Given the description of an element on the screen output the (x, y) to click on. 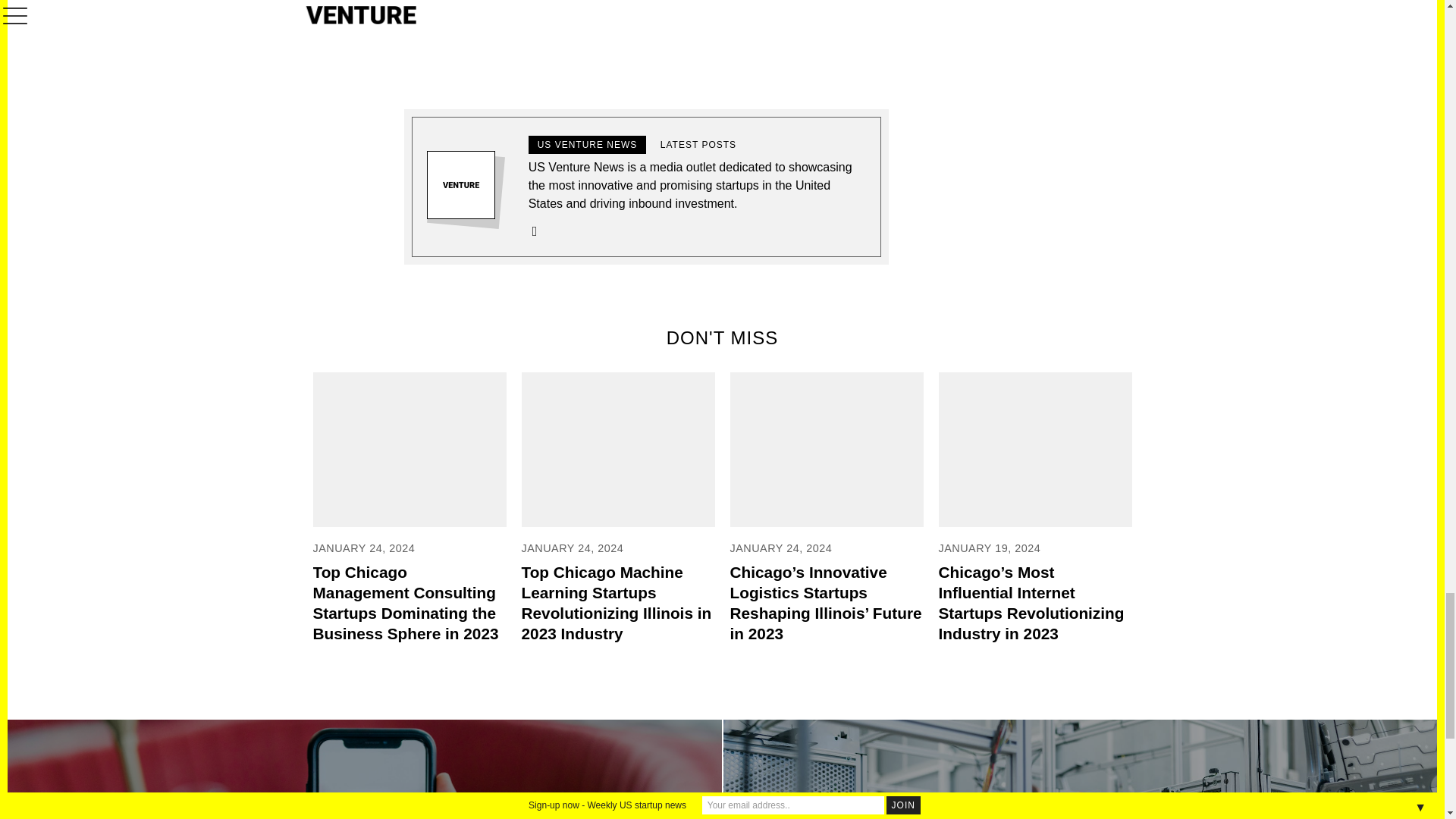
US VENTURE NEWS (587, 144)
Advertisement (708, 39)
LATEST POSTS (697, 144)
